Given the description of an element on the screen output the (x, y) to click on. 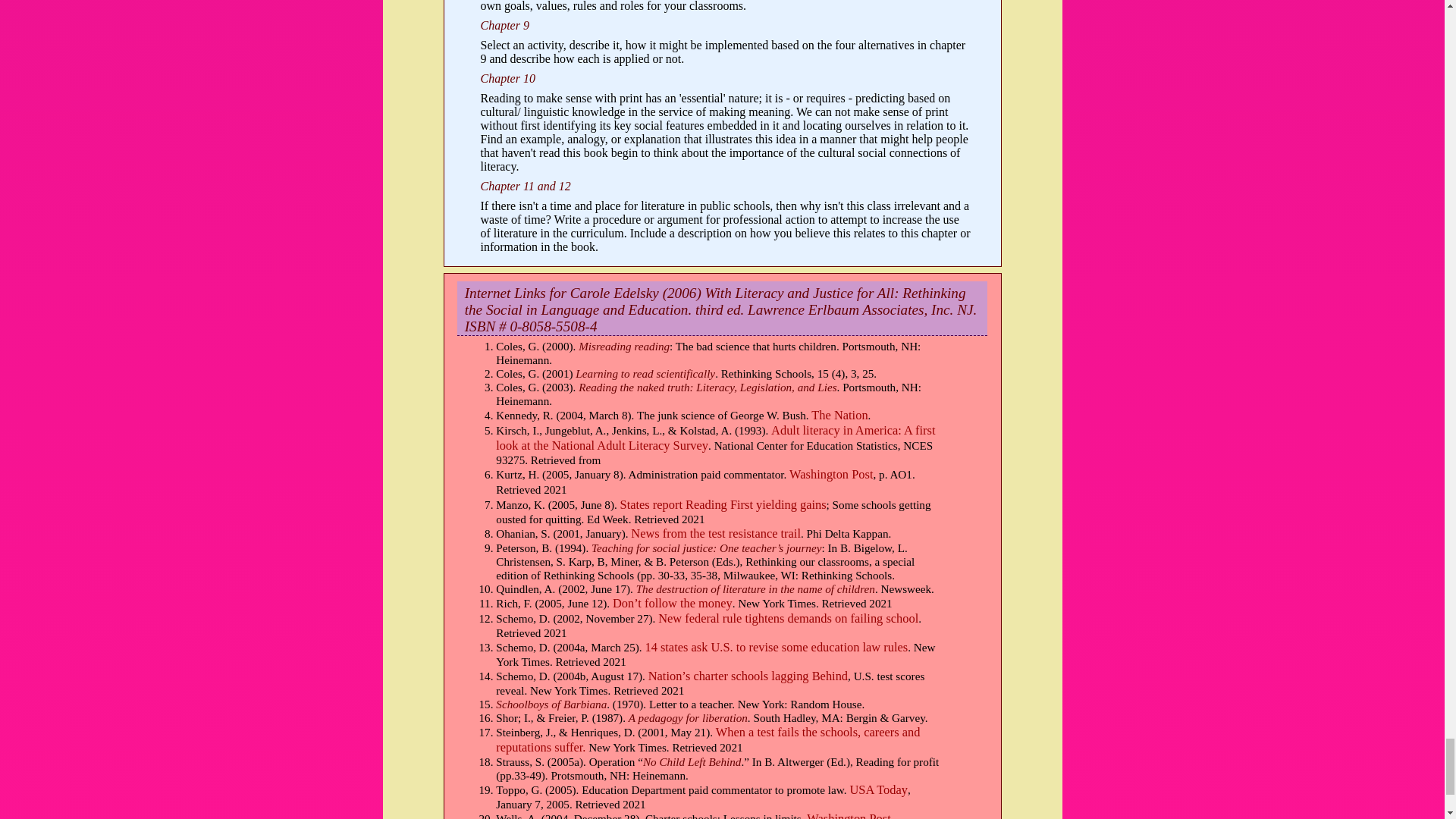
The Nation (838, 414)
Washington Post (830, 473)
News from the test resistance trail (715, 533)
States report Reading First yielding gains (723, 504)
